Given the description of an element on the screen output the (x, y) to click on. 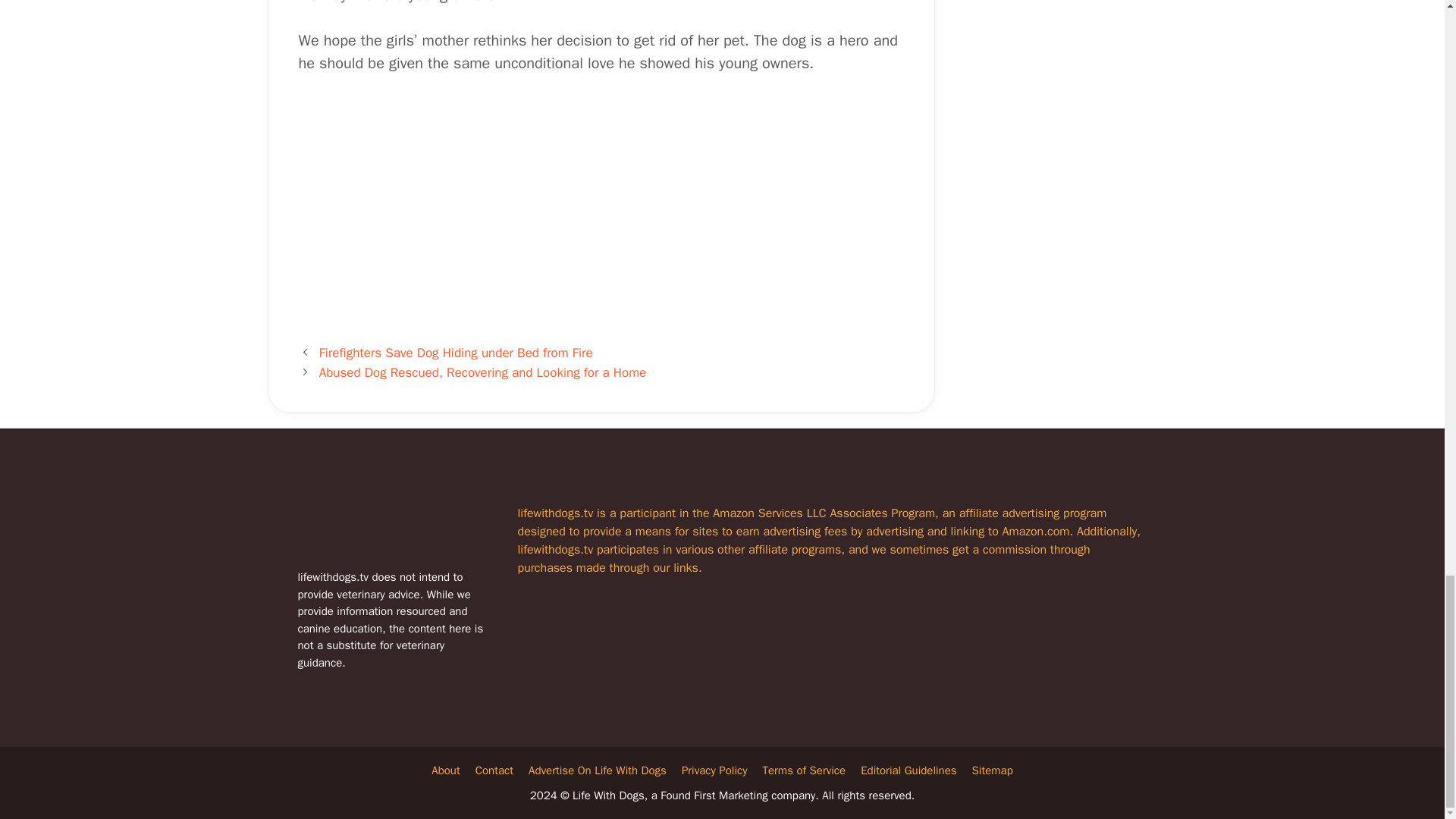
Privacy Policy (714, 770)
Firefighters Save Dog Hiding under Bed from Fire (455, 352)
Contact (494, 770)
Advertise On Life With Dogs (597, 770)
Sitemap (992, 770)
Editorial Guidelines (908, 770)
Abused Dog Rescued, Recovering and Looking for a Home (482, 372)
About (445, 770)
Terms of Service (803, 770)
